Given the description of an element on the screen output the (x, y) to click on. 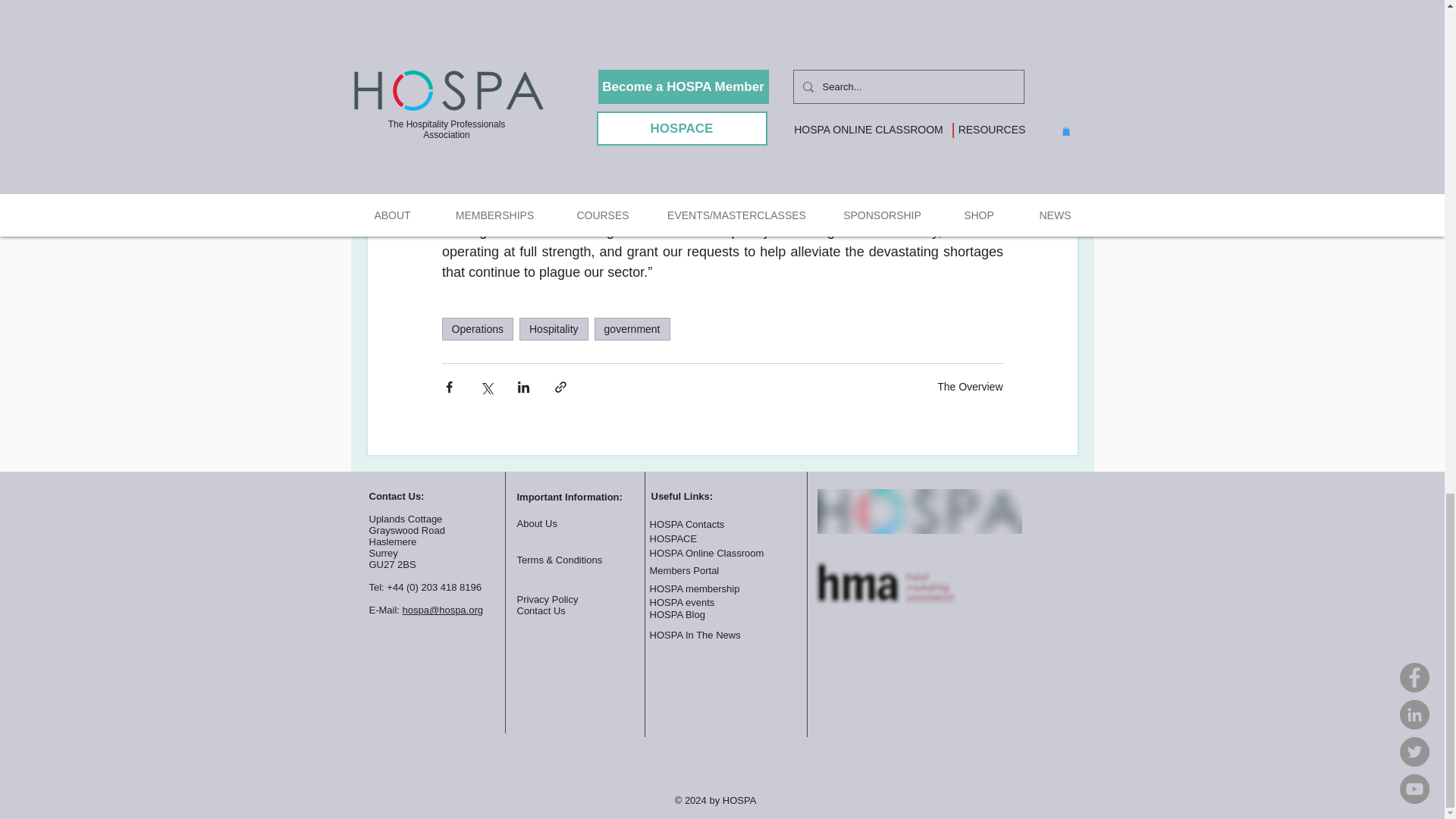
government (631, 328)
Operations (476, 328)
Hospitality (553, 328)
The Overview (970, 386)
